Given the description of an element on the screen output the (x, y) to click on. 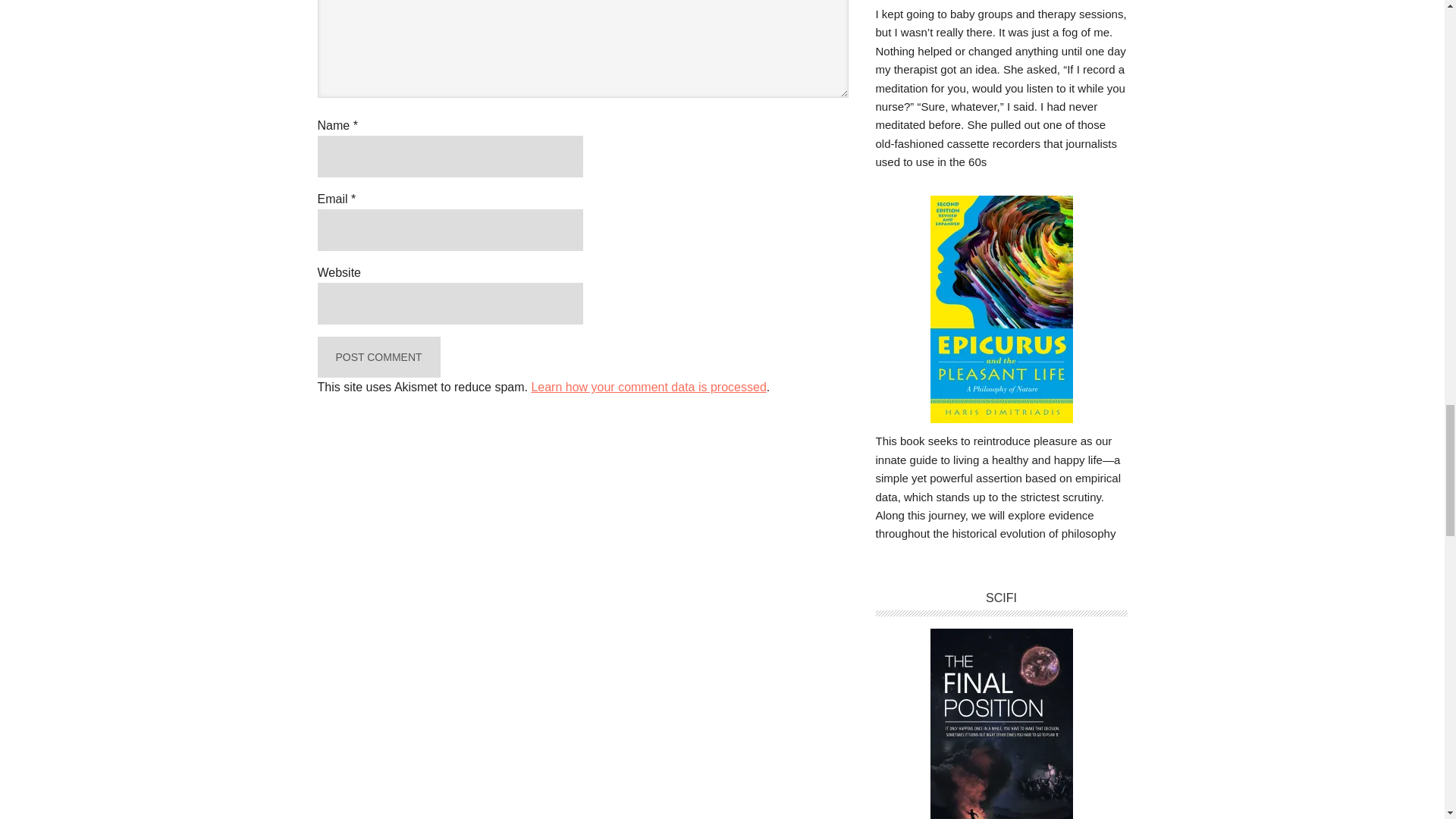
Post Comment (378, 357)
